Given the description of an element on the screen output the (x, y) to click on. 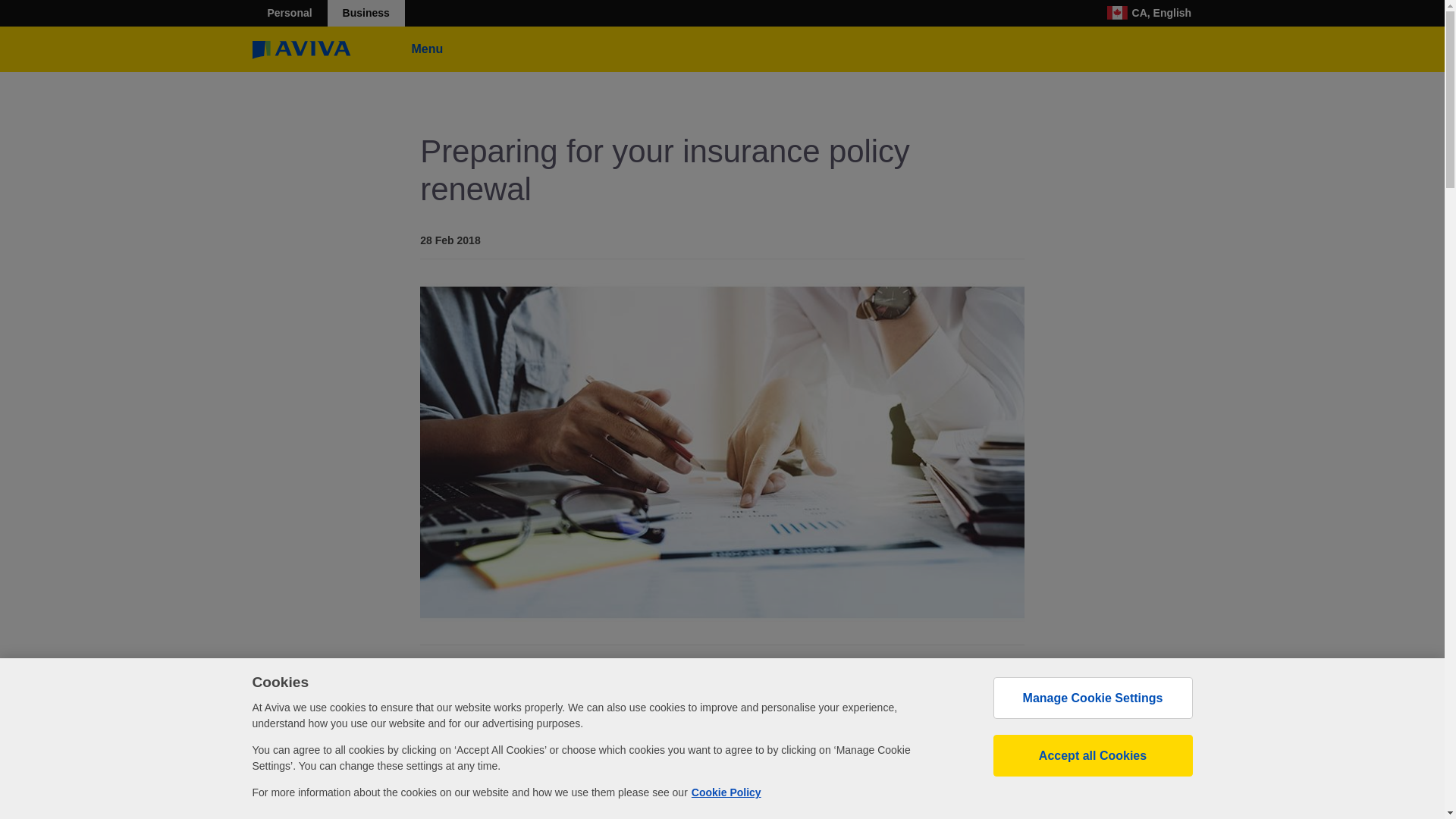
CA, English (1149, 13)
Personal (288, 13)
Business (365, 13)
